Given the description of an element on the screen output the (x, y) to click on. 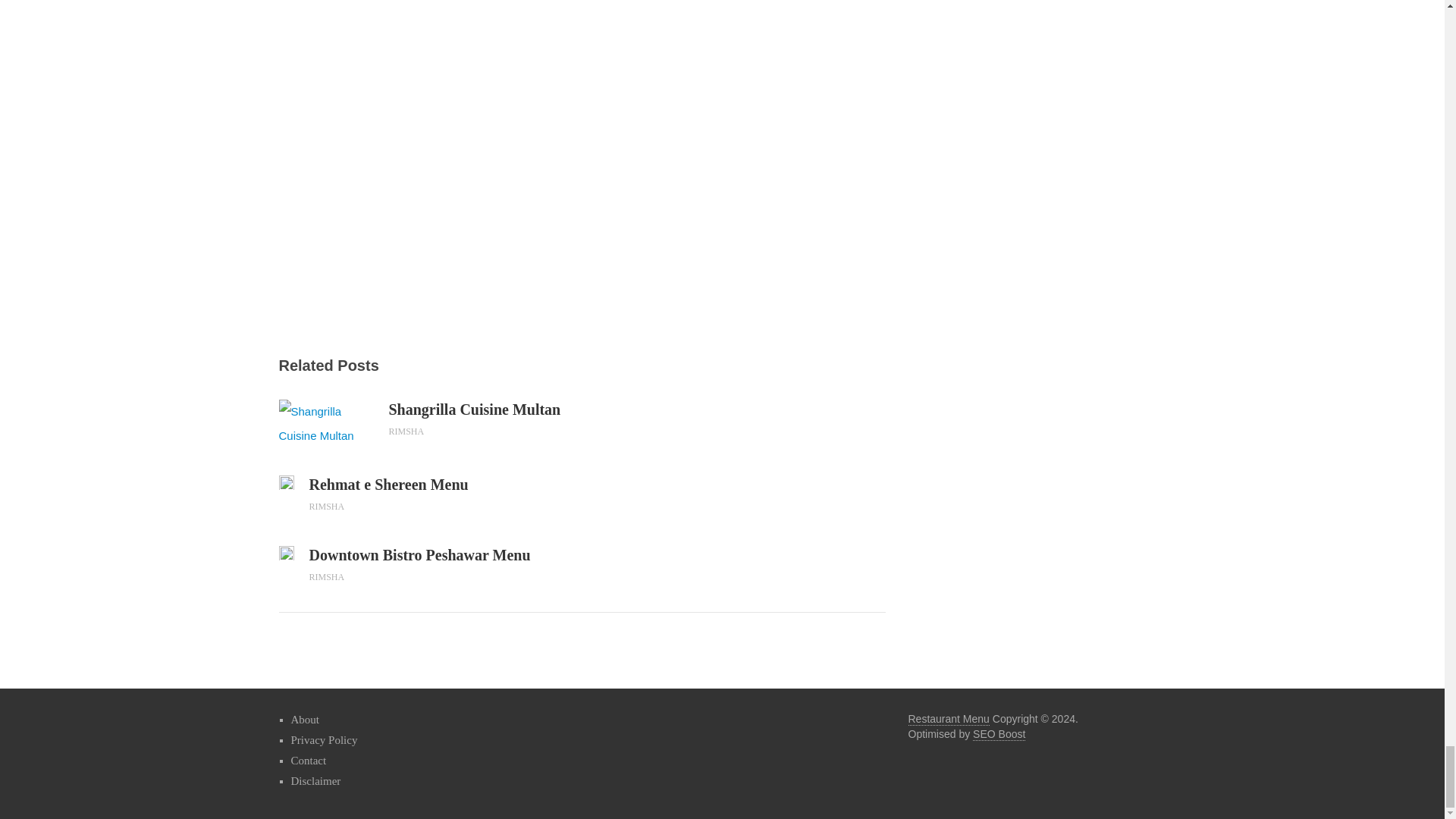
Shangrilla Cuisine Multan (484, 409)
Posts by Rimsha (405, 430)
RIMSHA (326, 576)
RIMSHA (326, 506)
Posts by Rimsha (326, 576)
Downtown Bistro Peshawar Menu (286, 552)
Posts by Rimsha (326, 506)
Rehmat e Shereen Menu (445, 484)
Downtown Bistro Peshawar Menu (445, 555)
RIMSHA (405, 430)
